Given the description of an element on the screen output the (x, y) to click on. 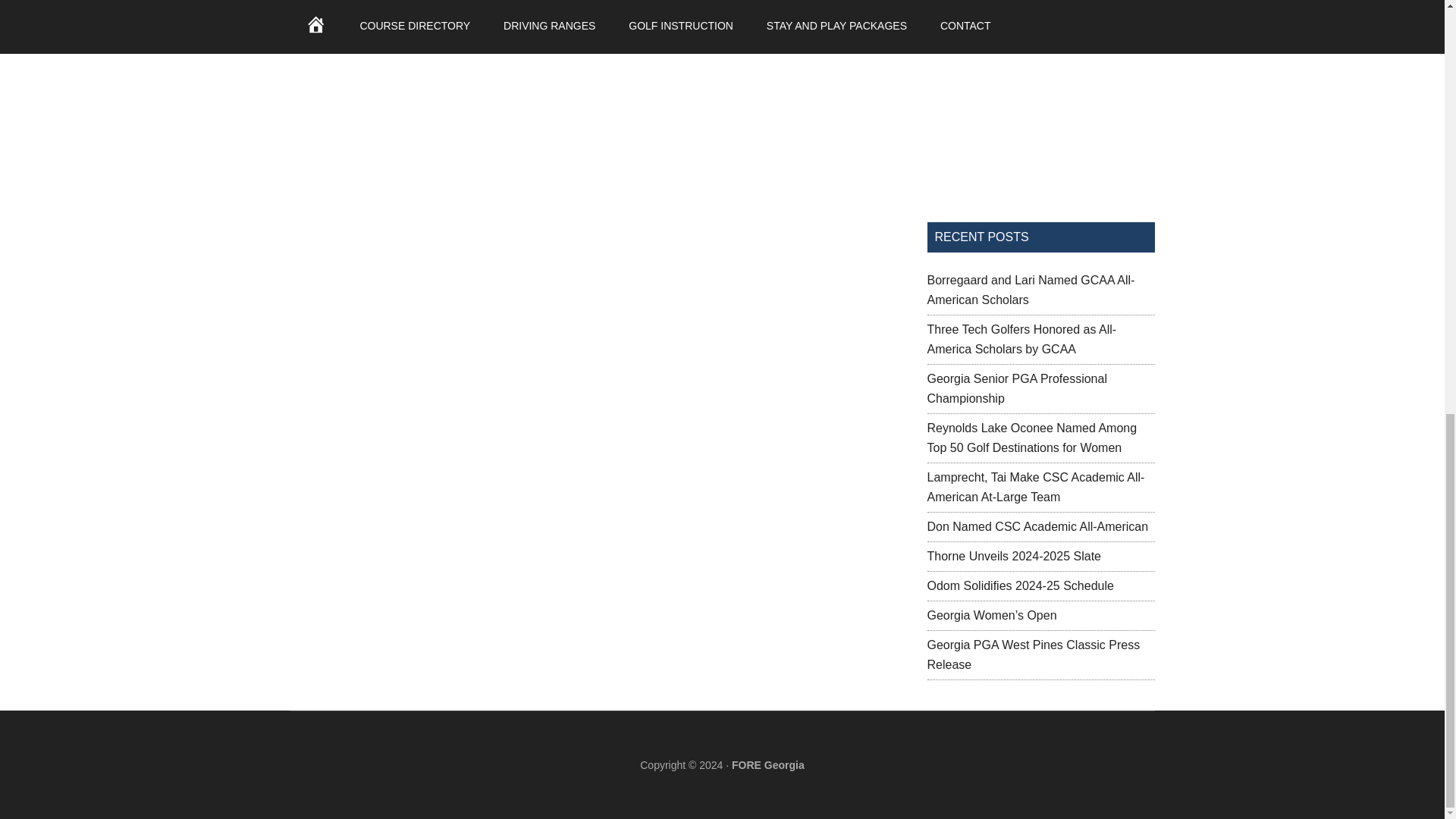
Three Tech Golfers Honored as All-America Scholars by GCAA (1021, 338)
Georgia Senior PGA Professional Championship (1016, 388)
Thorne Unveils 2024-2025 Slate (1013, 555)
Borregaard and Lari Named GCAA All-American Scholars (1030, 289)
Odom Solidifies 2024-25 Schedule (1019, 585)
Georgia PGA West Pines Classic Press Release (1033, 654)
Lamprecht, Tai Make CSC Academic All-American At-Large Team (1035, 486)
Don Named CSC Academic All-American (1037, 526)
